Given the description of an element on the screen output the (x, y) to click on. 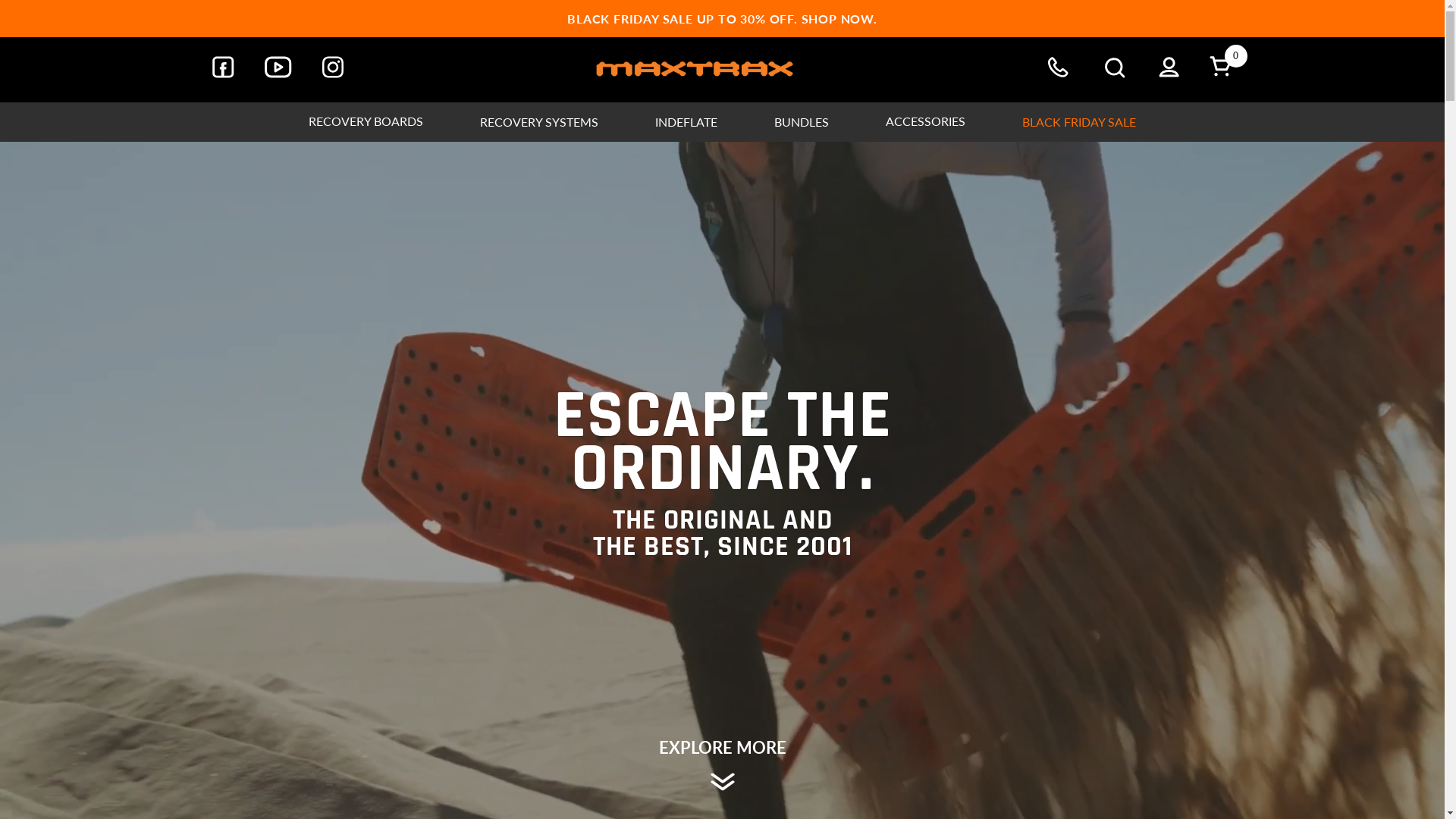
BUNDLES Element type: text (801, 121)
EXPLORE MORE Element type: text (722, 766)
RECOVERY SYSTEMS Element type: text (539, 121)
BLACK FRIDAY SALE Element type: text (1078, 121)
INDEFLATE Element type: text (686, 121)
Search Element type: hover (1114, 69)
0 Element type: text (1220, 65)
MAXTRAX Australia  Element type: hover (694, 69)
SHOP NOW. Element type: text (839, 18)
